Given the description of an element on the screen output the (x, y) to click on. 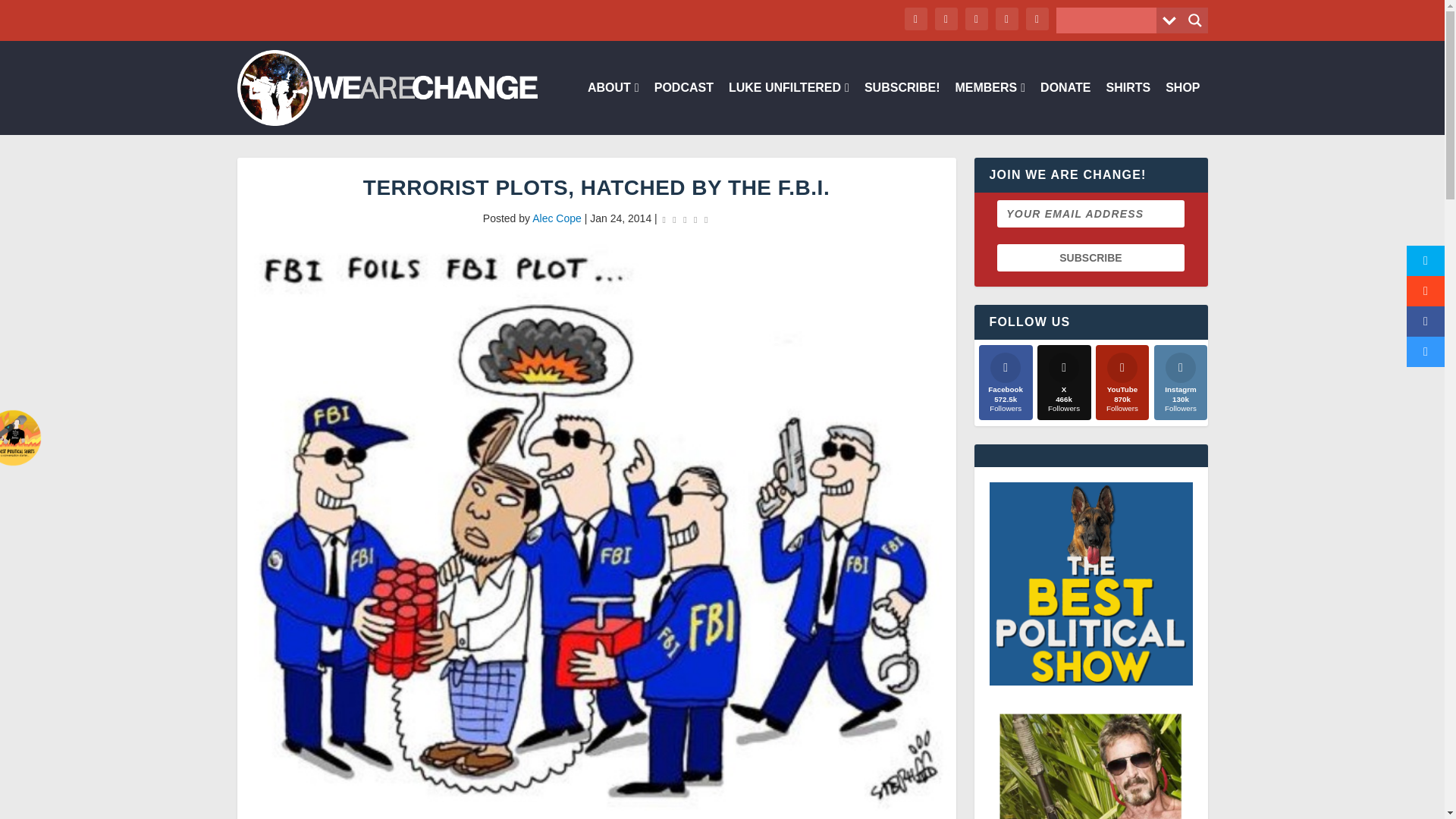
Subscribe (1090, 257)
PODCAST (683, 108)
DONATE (1065, 108)
MEMBERS (990, 108)
Rating: 0.00 (685, 219)
Posts by Alec Cope (556, 218)
Alec Cope (556, 218)
LUKE UNFILTERED (788, 108)
ABOUT (613, 108)
